Given the description of an element on the screen output the (x, y) to click on. 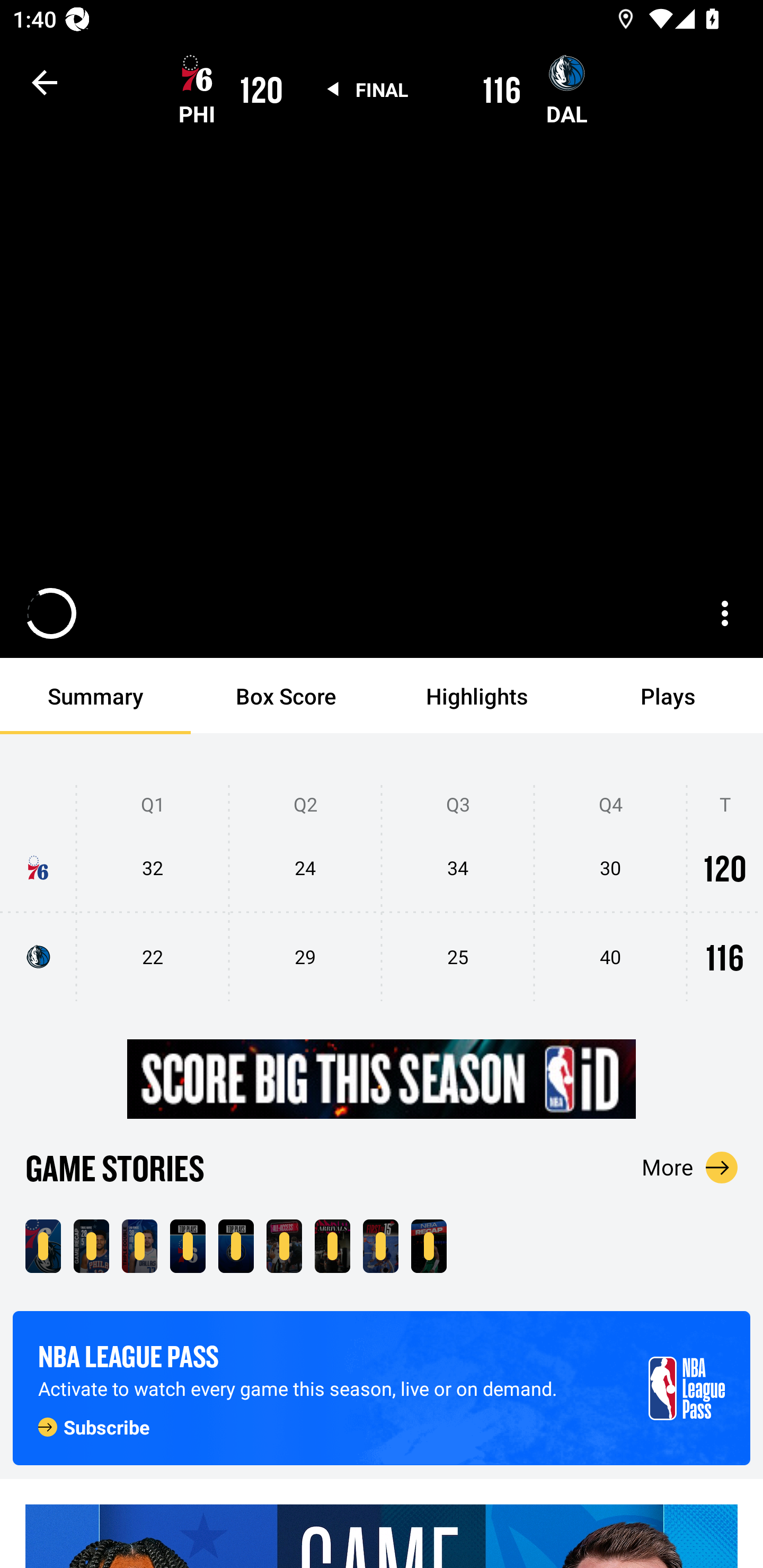
Navigate up (44, 82)
More options (724, 613)
Box Score (285, 695)
Highlights (476, 695)
Plays (667, 695)
Q1 Q2 Q3 Q4 T 32 24 34 30 120 22 29 25 40 116 (381, 893)
More (689, 1166)
NEW PHI 120, DAL 116 - Mar 3 (43, 1246)
NEW Highlights From Tobias Harris' 28-Point Game (91, 1246)
NEW Highlights from Luka Doncic's Triple-Double (139, 1246)
NEW PHI's Top Plays from PHI vs. DAL (187, 1246)
NEW DAL's Top Plays from PHI vs. DAL (236, 1246)
Bringing Brotherly Love To Dallas NEW (284, 1246)
Steppin' Into Sunday 🔥 NEW (332, 1246)
First To 15, Mar. 3rd NEW (380, 1246)
Sunday's Recap NEW (428, 1246)
